Given the description of an element on the screen output the (x, y) to click on. 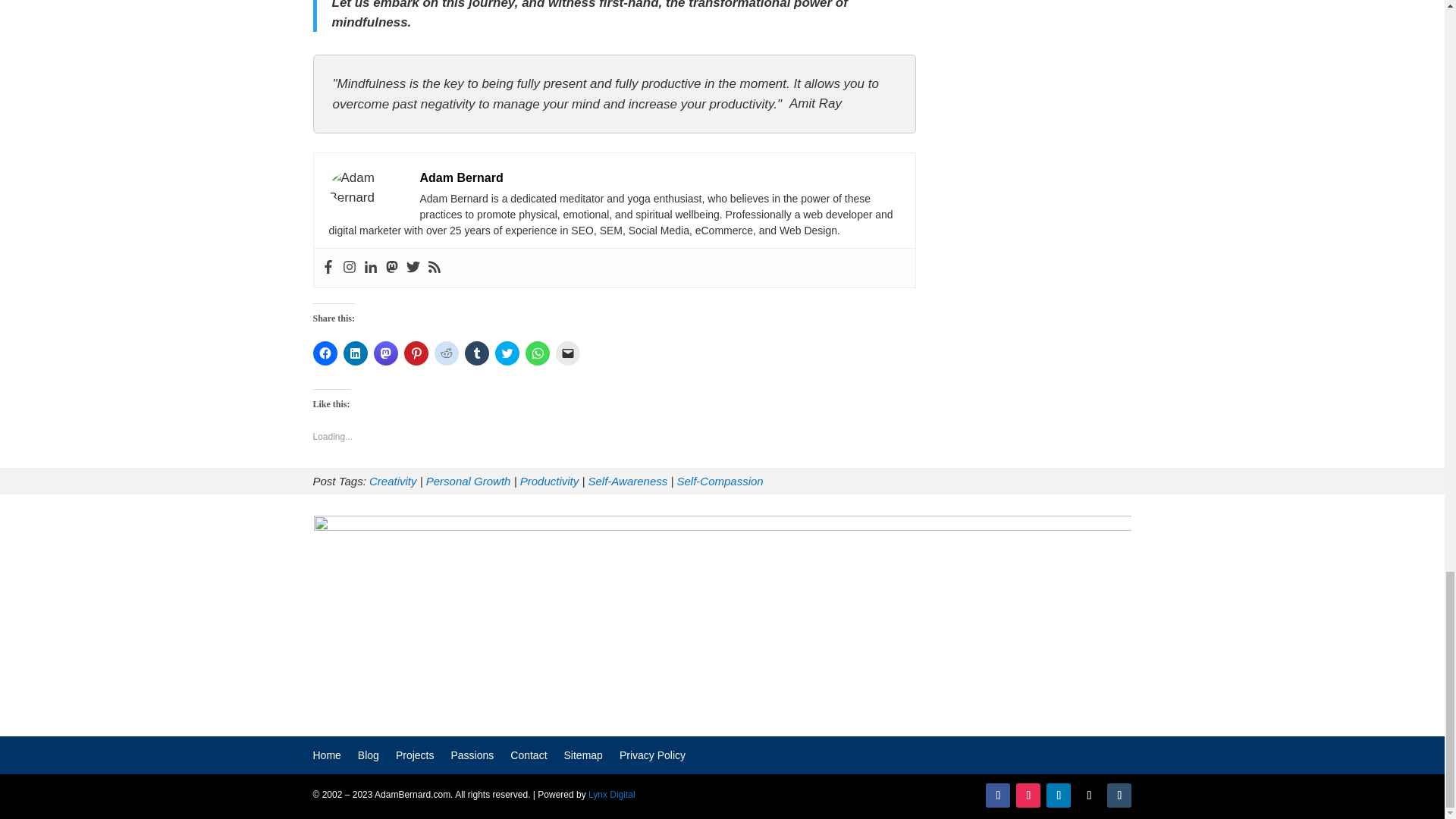
Twitter (413, 268)
Enhancing Productivity through Mindfulness - AdamBernard.com (366, 187)
Mastodont (391, 268)
Rss (434, 268)
Instagram (349, 268)
Linkedin (370, 268)
Facebook (327, 268)
Adam Bernard (461, 177)
